Given the description of an element on the screen output the (x, y) to click on. 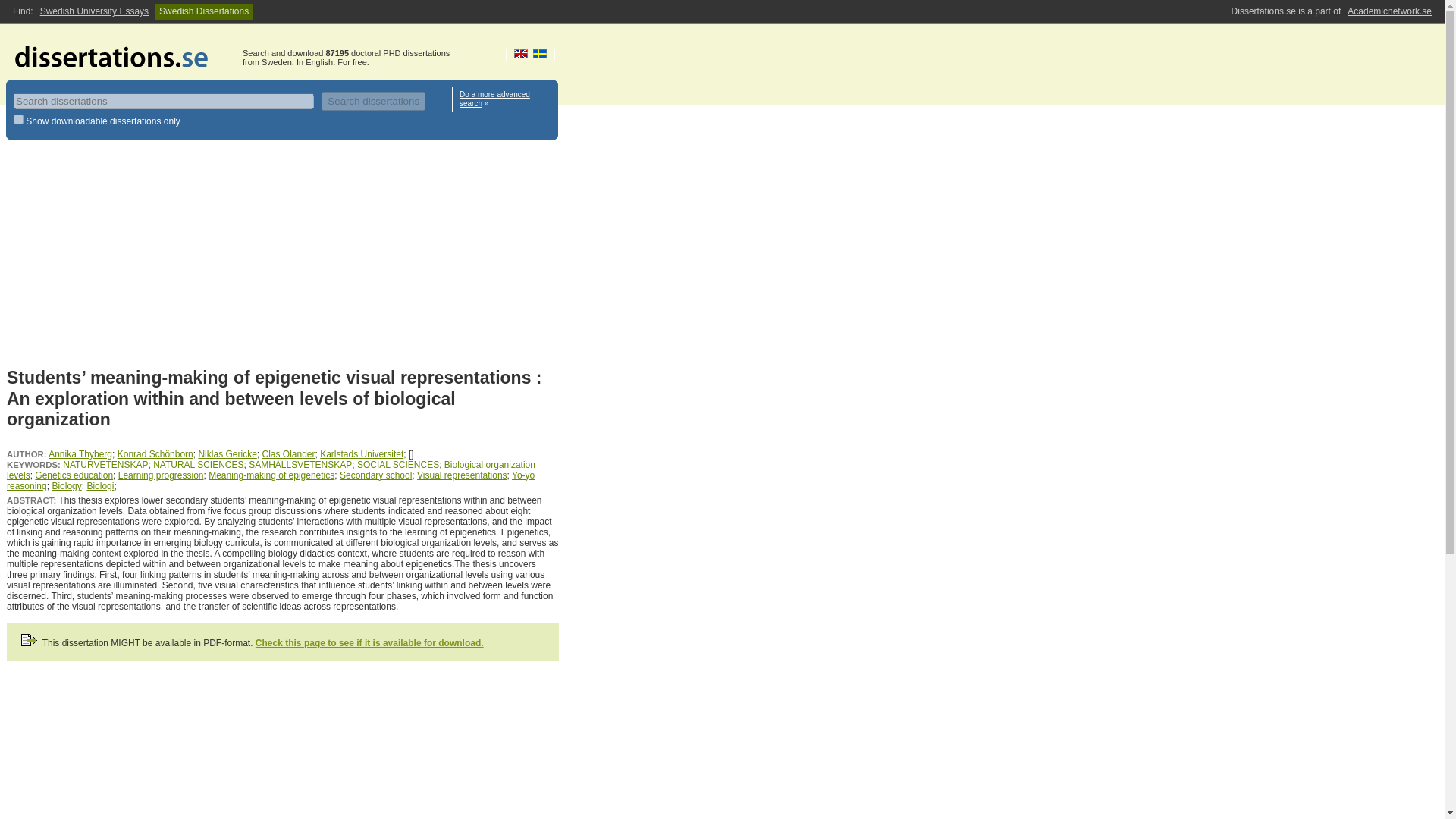
Search dissertations (373, 100)
Biological organization levels (271, 469)
Advertisement (283, 257)
Visual representations (461, 475)
y (18, 119)
Yo-yo reasoning (270, 480)
SOCIAL SCIENCES (397, 464)
Meaning-making of epigenetics (271, 475)
Swedish University Essays (93, 11)
Check this page to see if it is available for download. (369, 643)
